Given the description of an element on the screen output the (x, y) to click on. 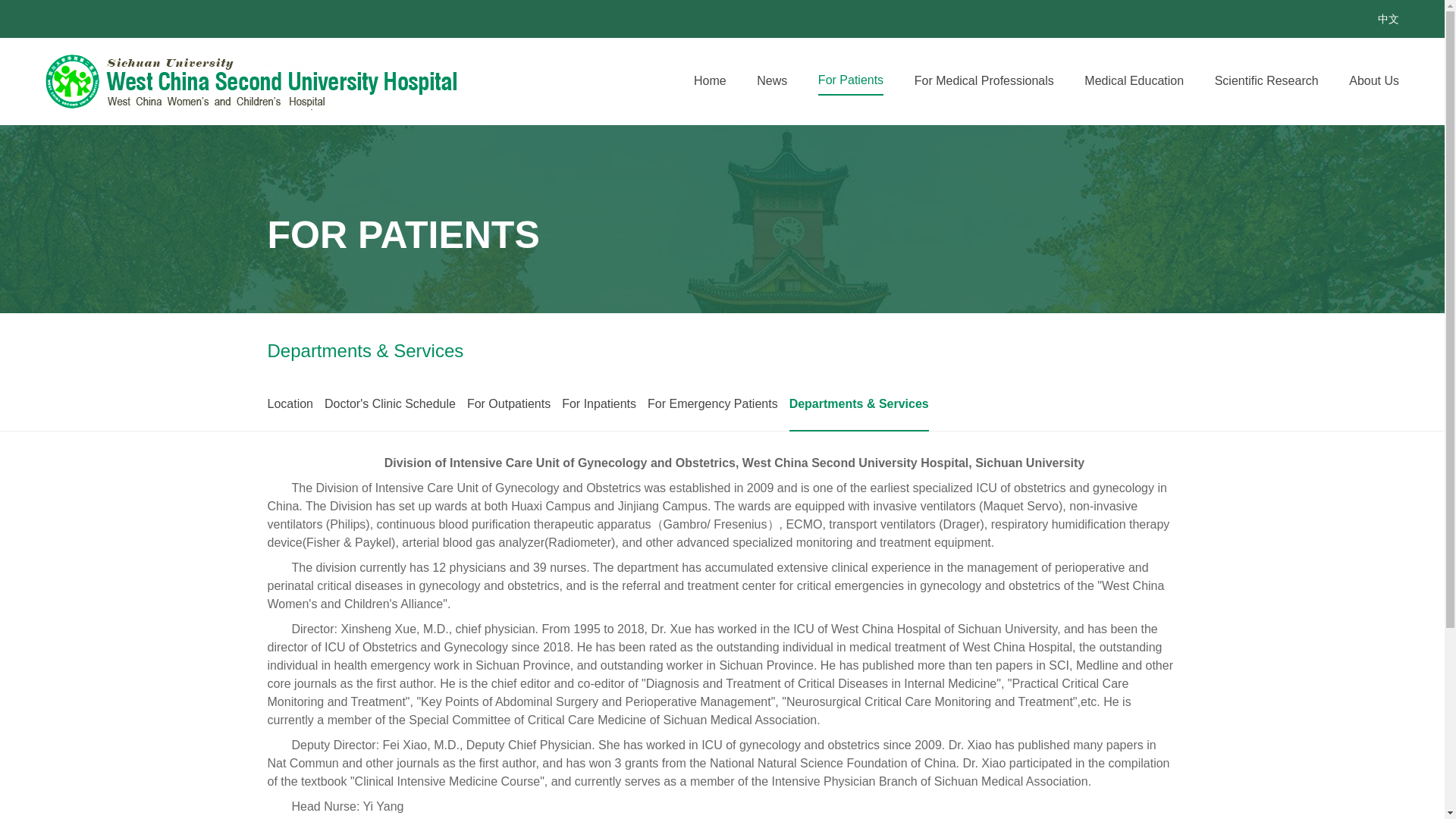
Scientific Research (1280, 81)
For Medical Professionals (984, 81)
For Emergency Patients (712, 403)
For Inpatients (599, 403)
For Outpatients (508, 403)
Medical Education (1133, 81)
About Us (1387, 81)
For Patients (850, 80)
Home (710, 81)
News (772, 81)
